Given the description of an element on the screen output the (x, y) to click on. 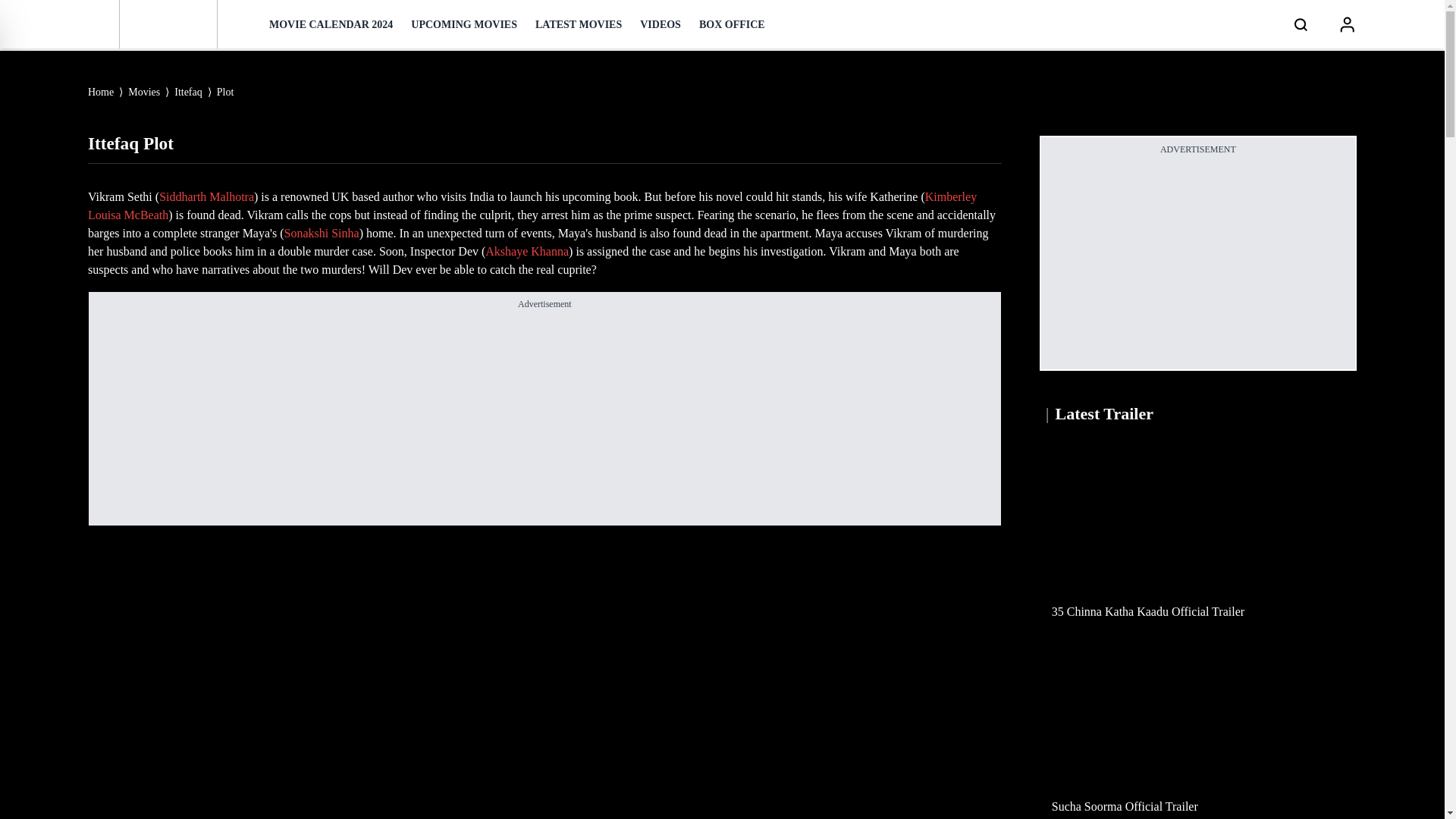
BOX OFFICE (731, 24)
UPCOMING MOVIES (463, 24)
VIDEOS (660, 24)
LATEST MOVIES (578, 24)
MOVIE CALENDAR 2024 (331, 24)
